Given the description of an element on the screen output the (x, y) to click on. 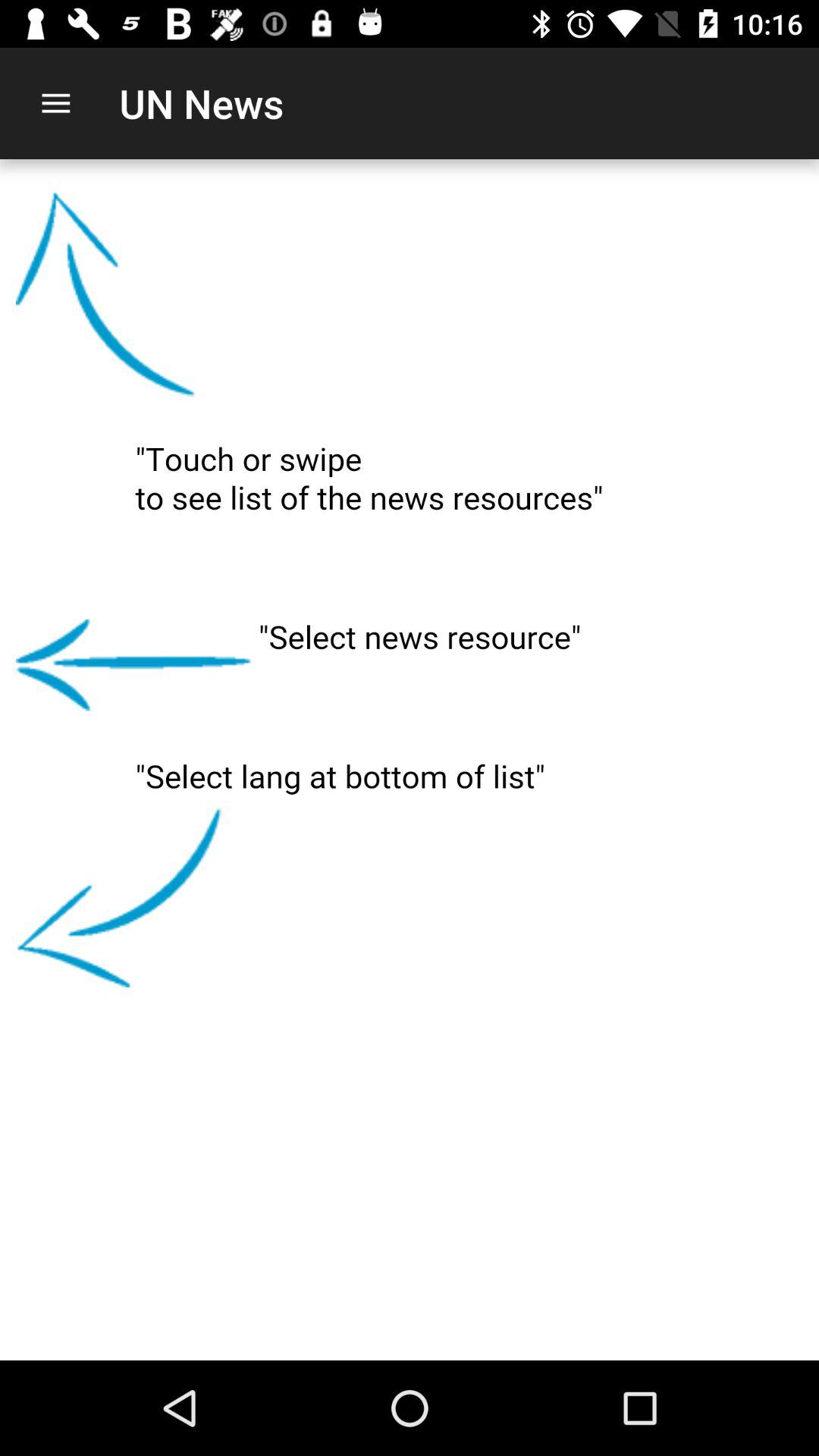
turn off the icon next to the un news item (55, 103)
